Given the description of an element on the screen output the (x, y) to click on. 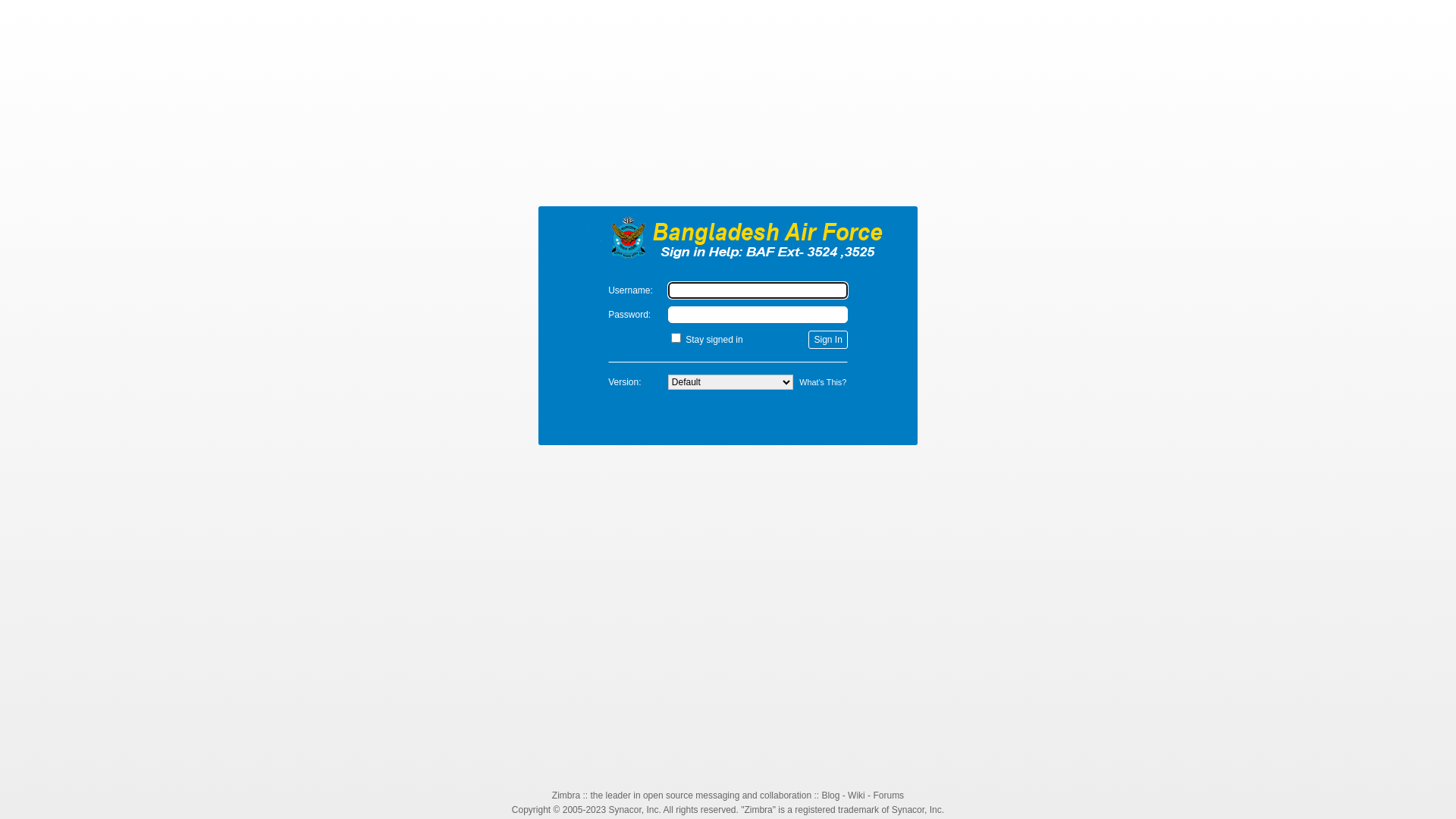
Forums Element type: text (887, 795)
Sign In Element type: text (827, 339)
Zimbra Element type: text (566, 795)
Wiki Element type: text (856, 795)
Zimbra Element type: text (727, 236)
Blog Element type: text (830, 795)
